Given the description of an element on the screen output the (x, y) to click on. 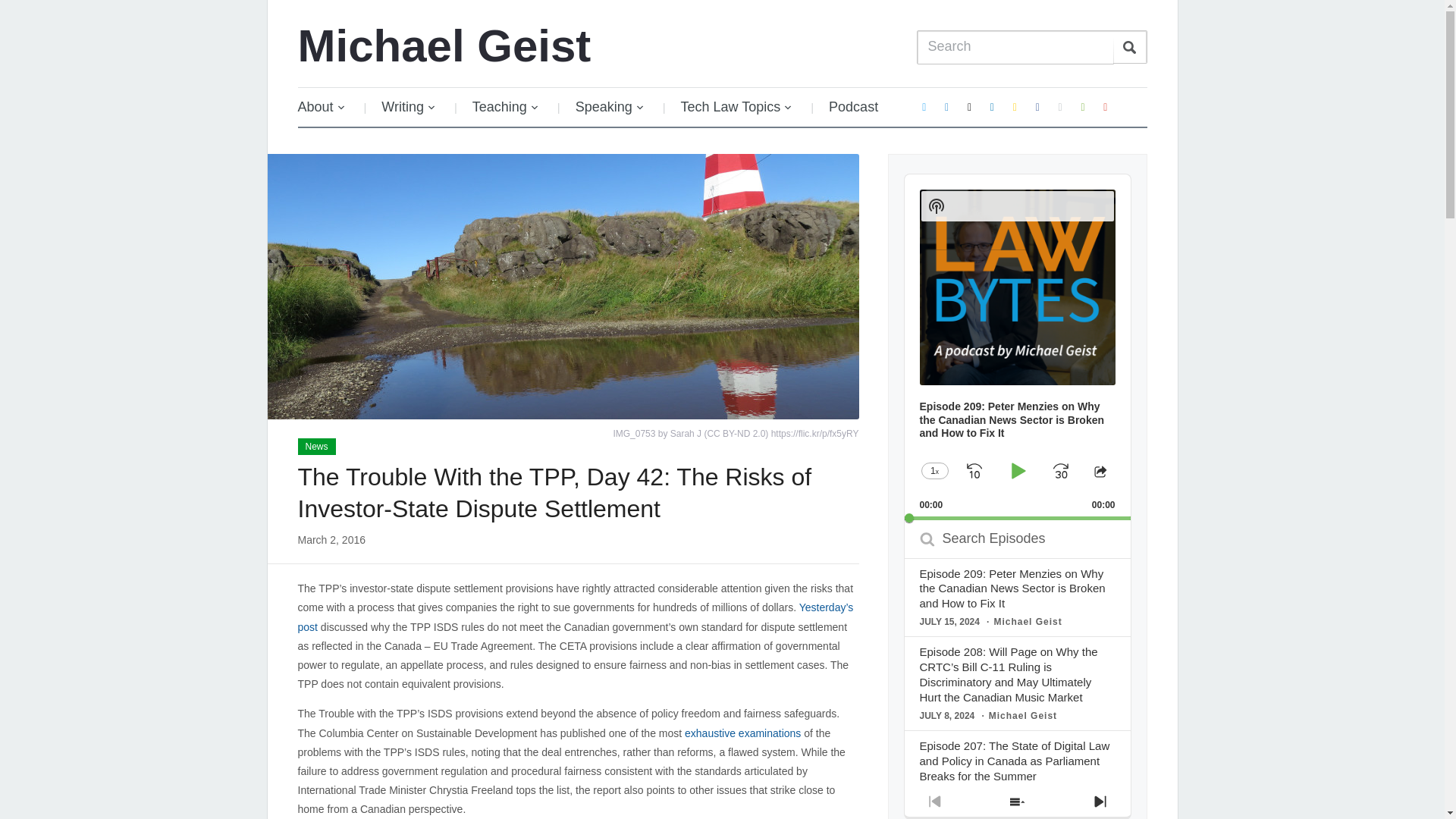
Search (1130, 46)
About (328, 106)
Writing (408, 106)
mastodon (946, 106)
Michael Geist (444, 45)
Default Label (1105, 106)
Default Label (1014, 106)
Teaching (505, 106)
Default Label (969, 106)
Facebook (1036, 106)
linkedin (991, 106)
Default Label (1082, 106)
Search (1130, 46)
Tech Law Topics (736, 106)
